Given the description of an element on the screen output the (x, y) to click on. 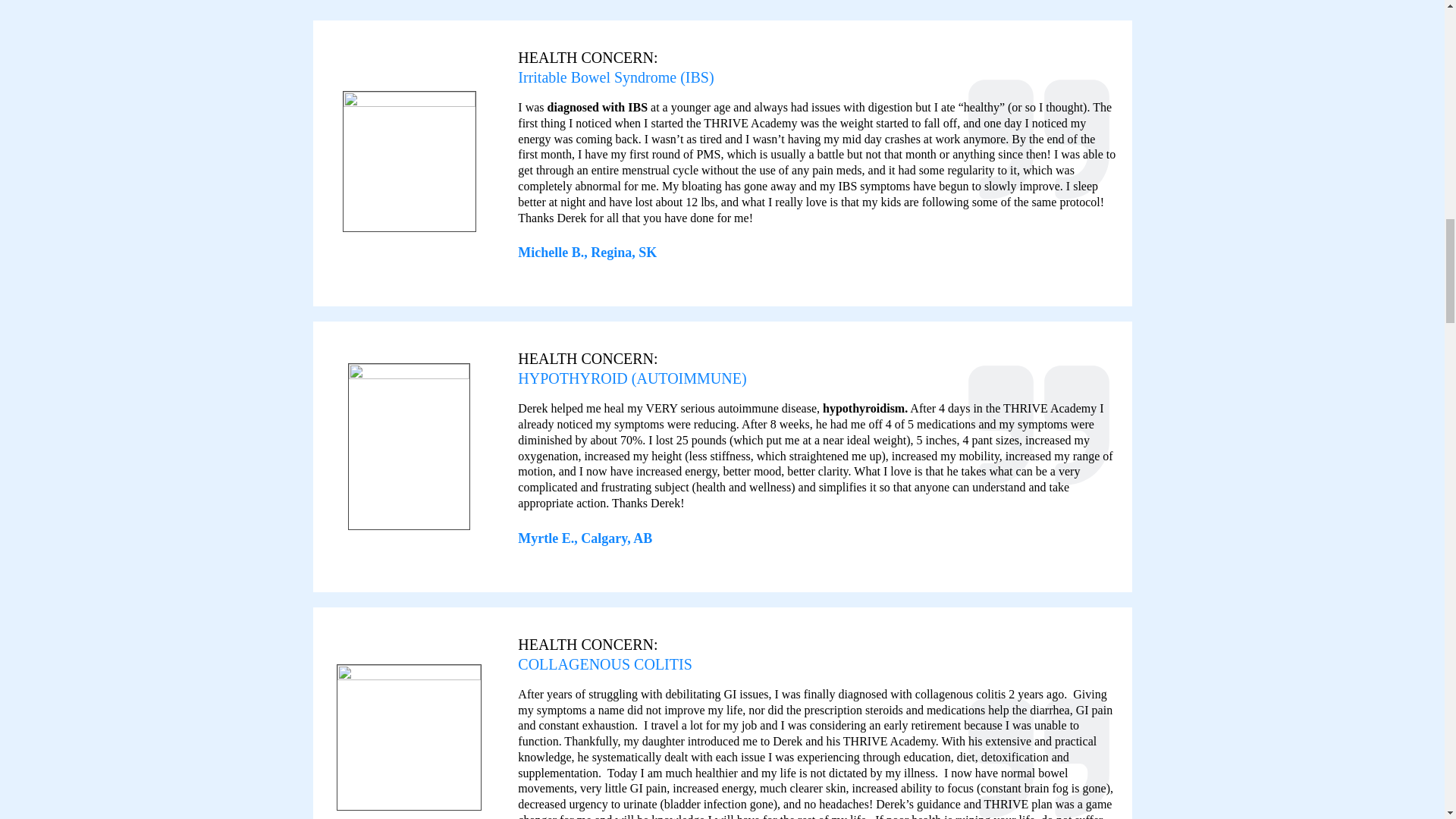
Tanya J. (408, 737)
quote-right (1038, 430)
quote-right (1038, 753)
quote-right (1038, 144)
Michelle-B-1 (409, 160)
